Given the description of an element on the screen output the (x, y) to click on. 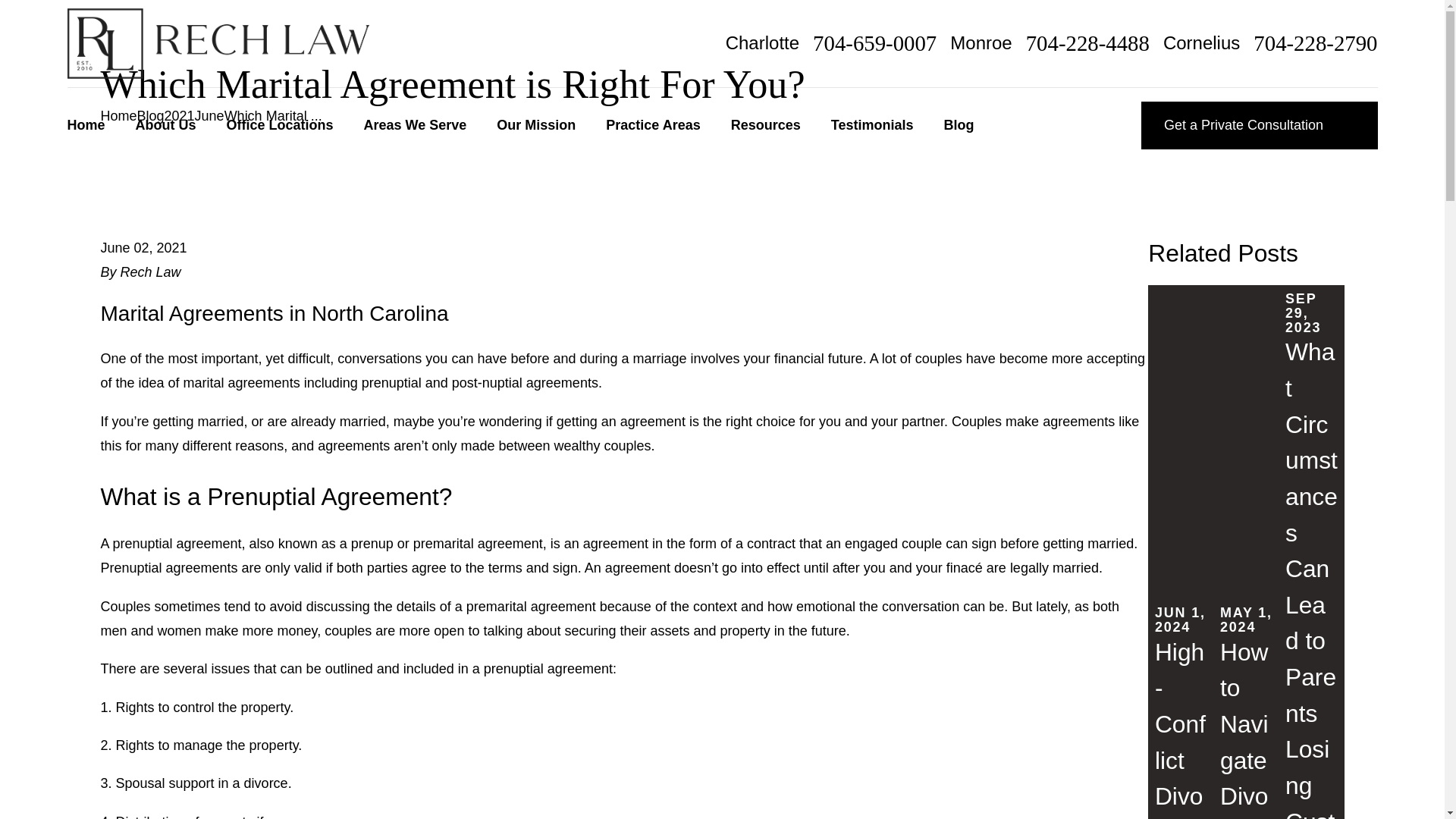
704-228-2790 (1315, 43)
Practice Areas (652, 125)
About Us (165, 125)
Office Locations (280, 125)
704-228-4488 (1088, 43)
Home (217, 43)
Home (85, 125)
Our Mission (535, 125)
Areas We Serve (415, 125)
Go Home (118, 115)
704-659-0007 (874, 43)
